Given the description of an element on the screen output the (x, y) to click on. 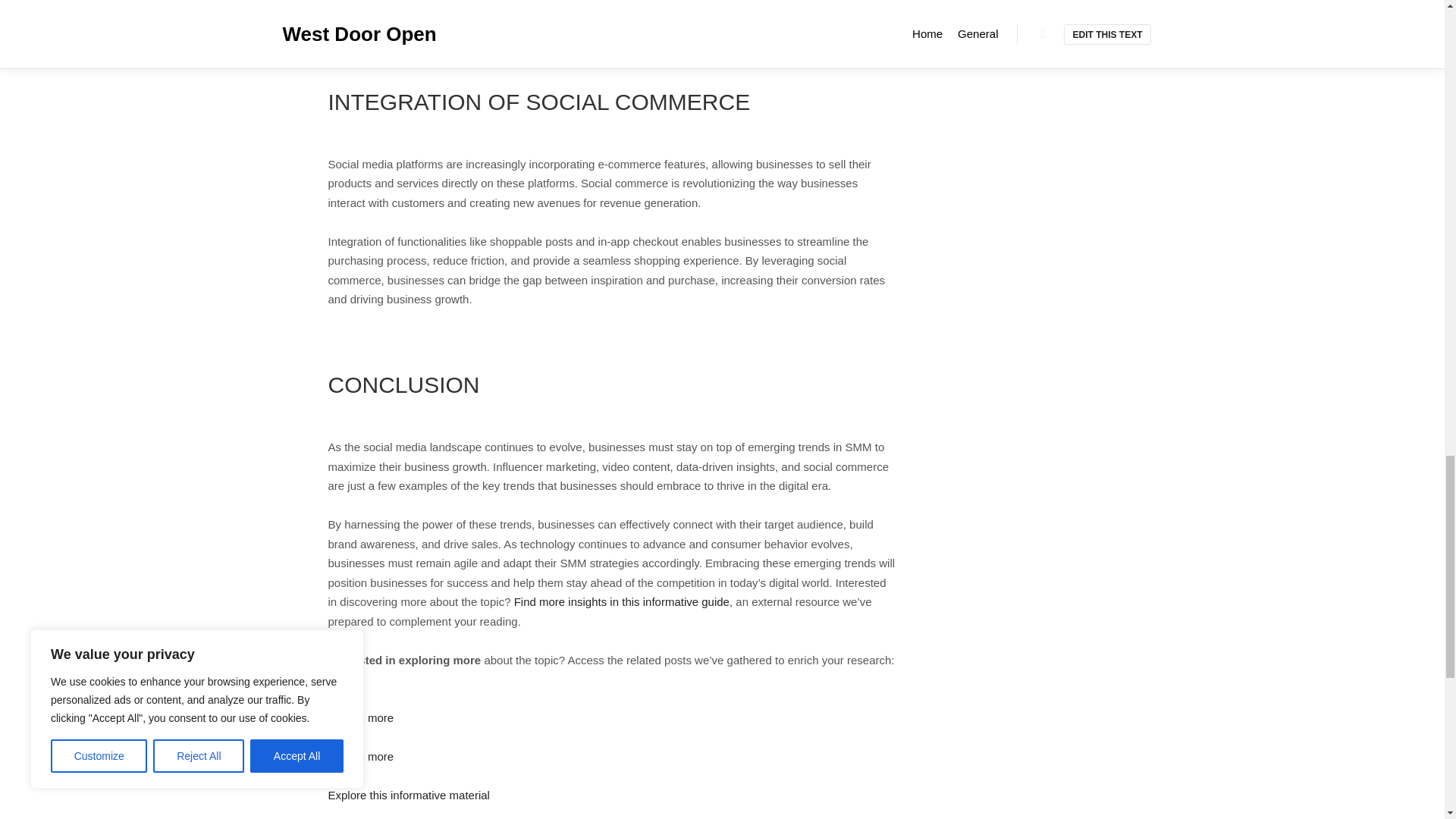
Assess more (360, 717)
Assess more (360, 756)
Explore this informative material (408, 794)
Find more insights in this informative guide (621, 601)
